Given the description of an element on the screen output the (x, y) to click on. 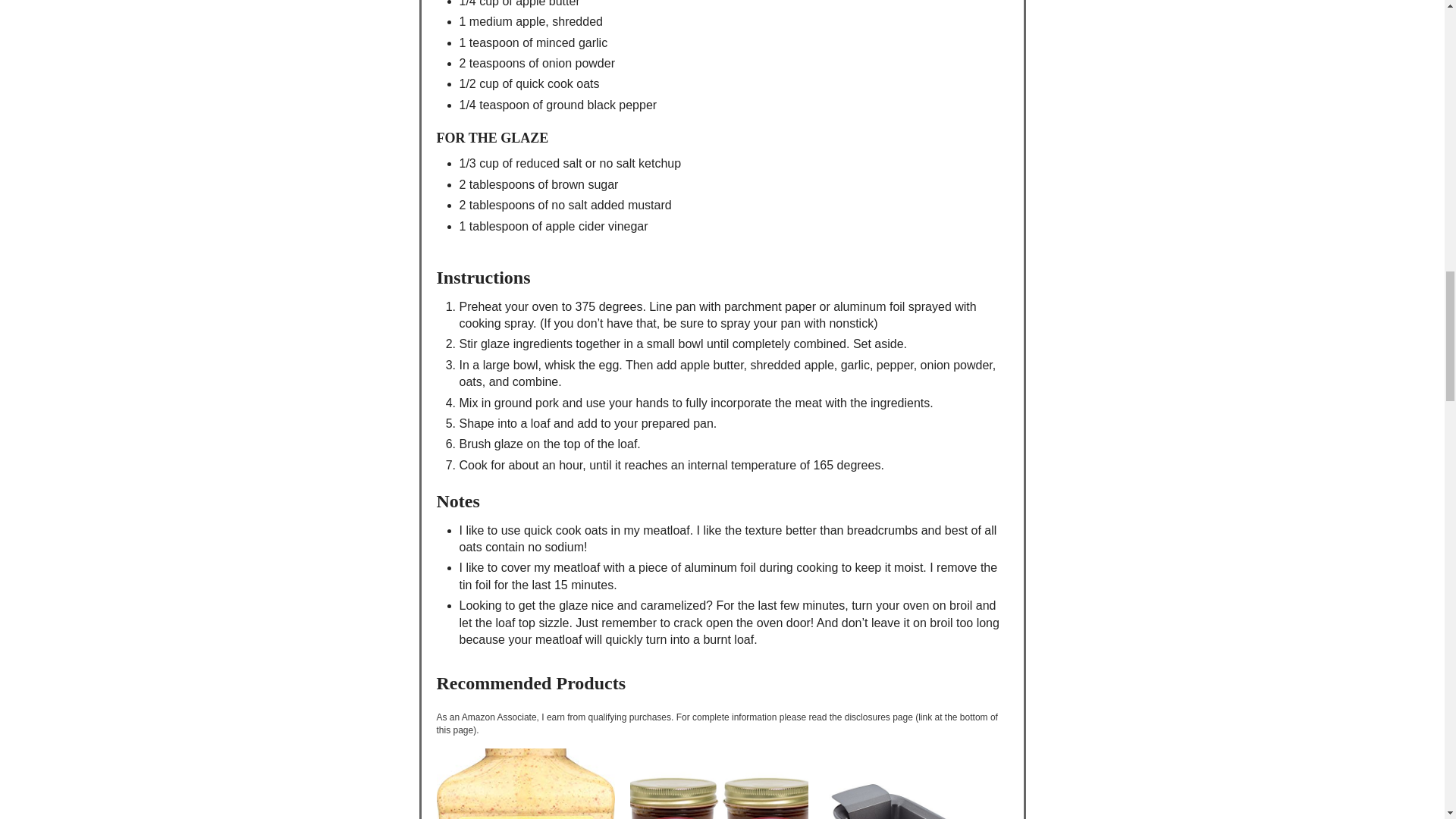
Baking Loaf Pan with Insert (912, 783)
Westbrae Natural Stoneground Mustard No Salt Added (525, 783)
Mrs. Miller'sHomemade Apple Butter  (719, 783)
